Given the description of an element on the screen output the (x, y) to click on. 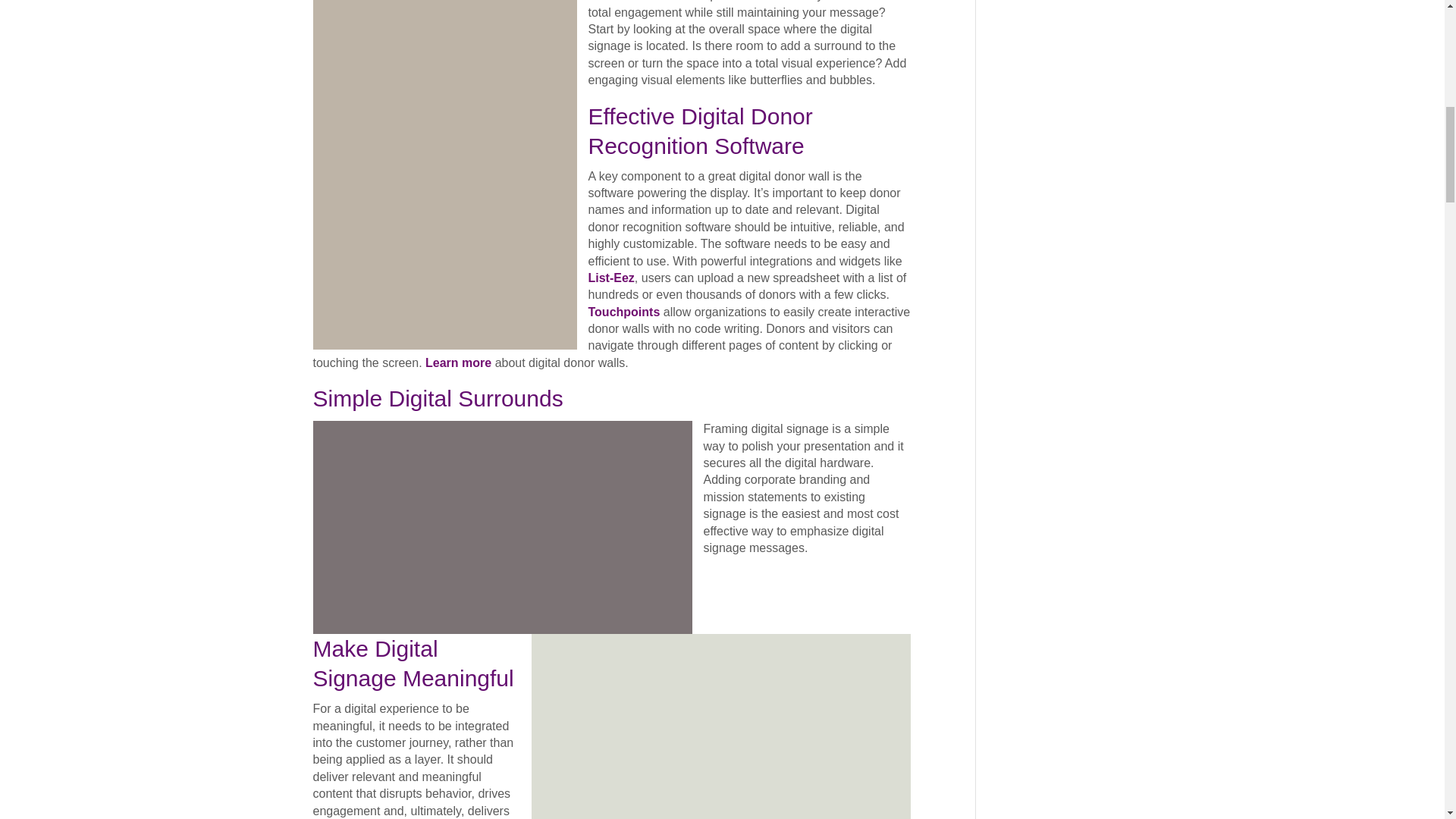
List-Eez (611, 277)
Learn more (458, 362)
Touchpoints (624, 311)
